Given the description of an element on the screen output the (x, y) to click on. 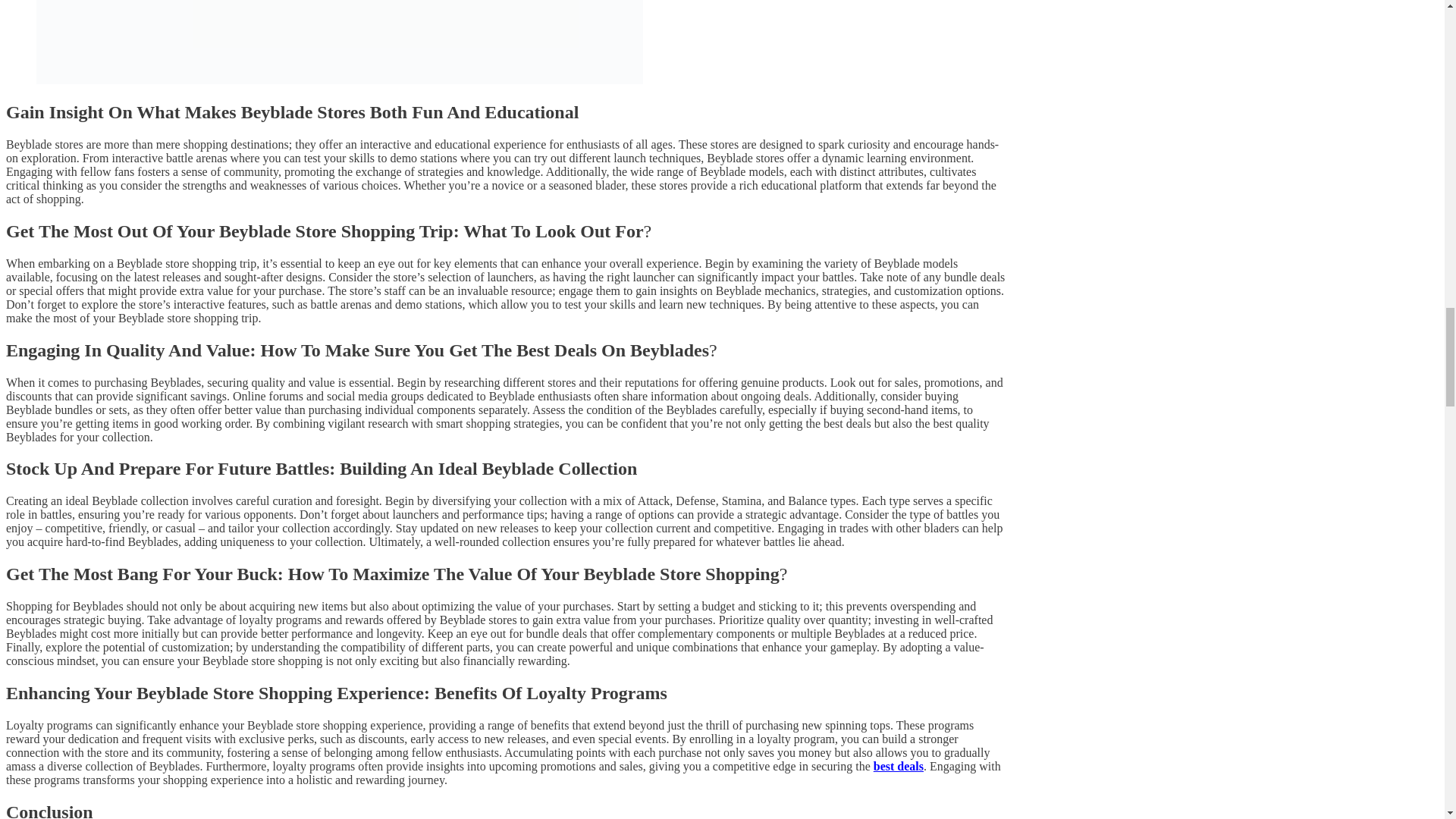
best deals (898, 766)
